Given the description of an element on the screen output the (x, y) to click on. 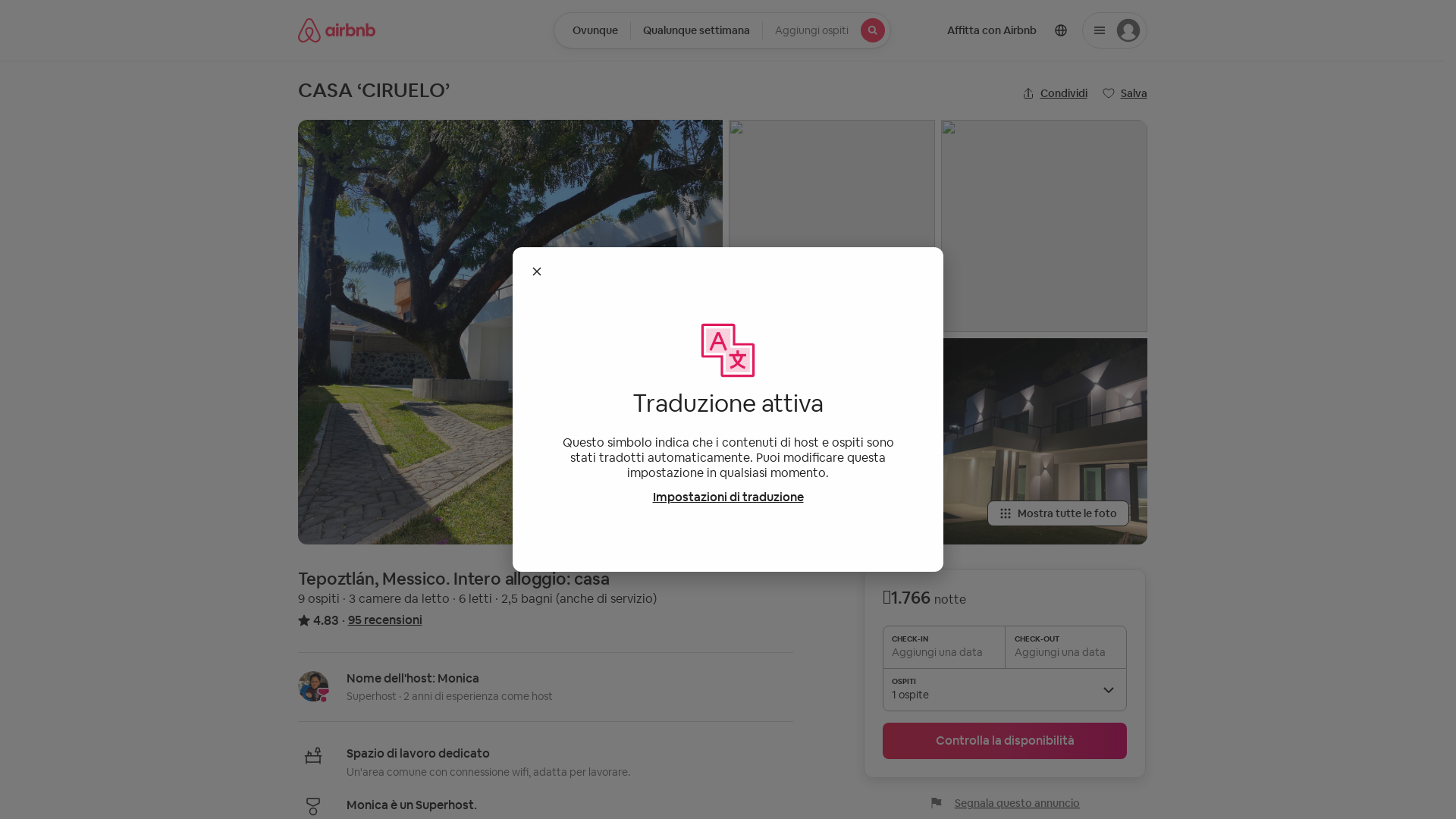
Ospiti
Aggiungi ospiti Element type: text (826, 30)
Mostra tutte le foto Element type: text (1058, 513)
Impostazioni di traduzione Element type: text (727, 497)
Salva Element type: text (1124, 93)
Affitta con Airbnb Element type: text (990, 30)
Condividi Element type: text (1054, 93)
CHECK-IN
Aggiungi una data
CHECK-OUT
Aggiungi una data Element type: text (1004, 646)
Dove
Ovunque Element type: text (591, 30)
95 recensioni Element type: text (384, 619)
Check-in/check-out
Qualunque settimana Element type: text (696, 30)
Segnala questo annuncio Element type: text (1004, 802)
